Given the description of an element on the screen output the (x, y) to click on. 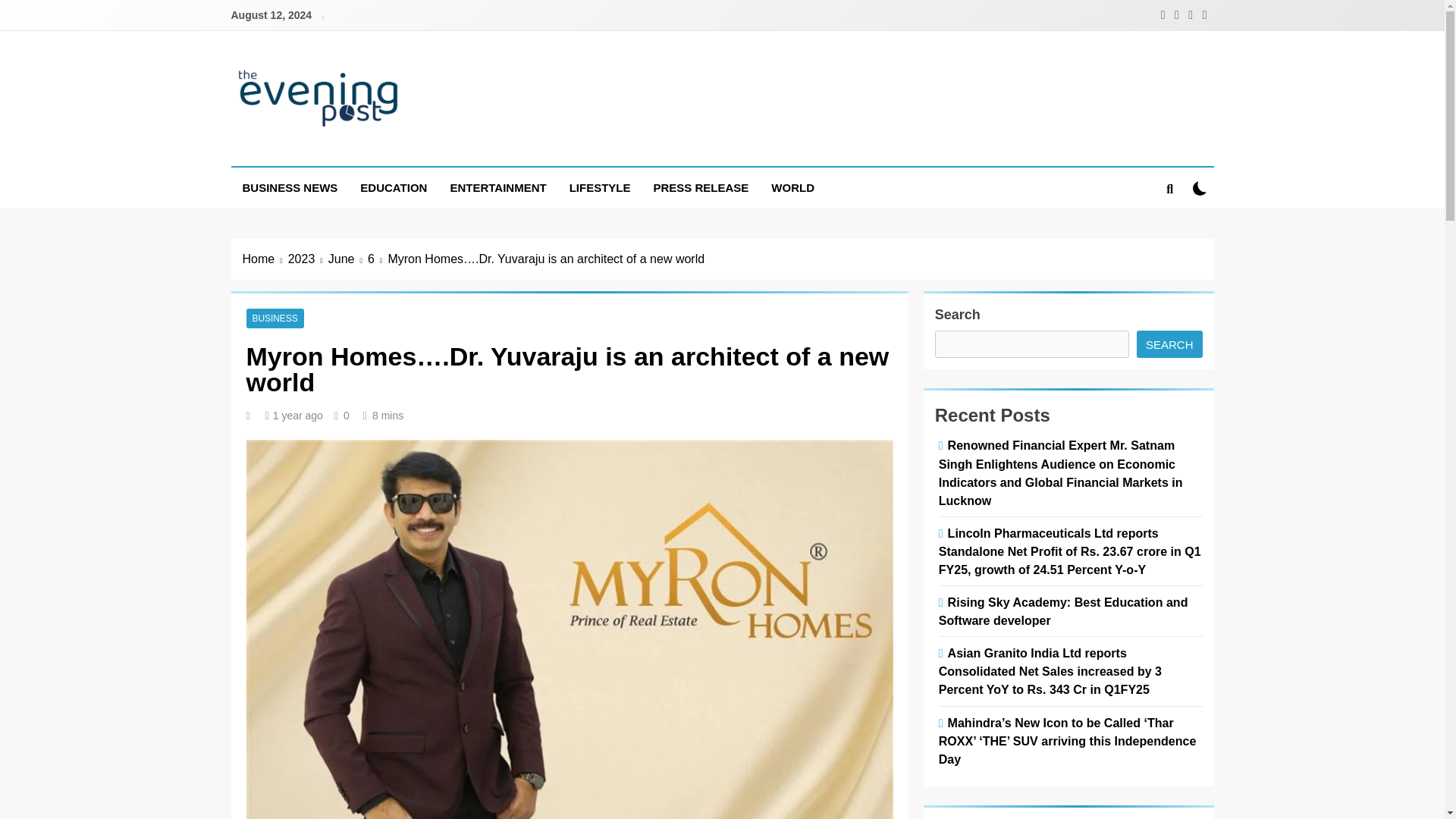
ENTERTAINMENT (497, 187)
Home (265, 259)
WORLD (792, 187)
LIFESTYLE (599, 187)
on (1199, 187)
6 (377, 259)
EDUCATION (393, 187)
The Evening Post (363, 152)
BUSINESS NEWS (289, 187)
